Given the description of an element on the screen output the (x, y) to click on. 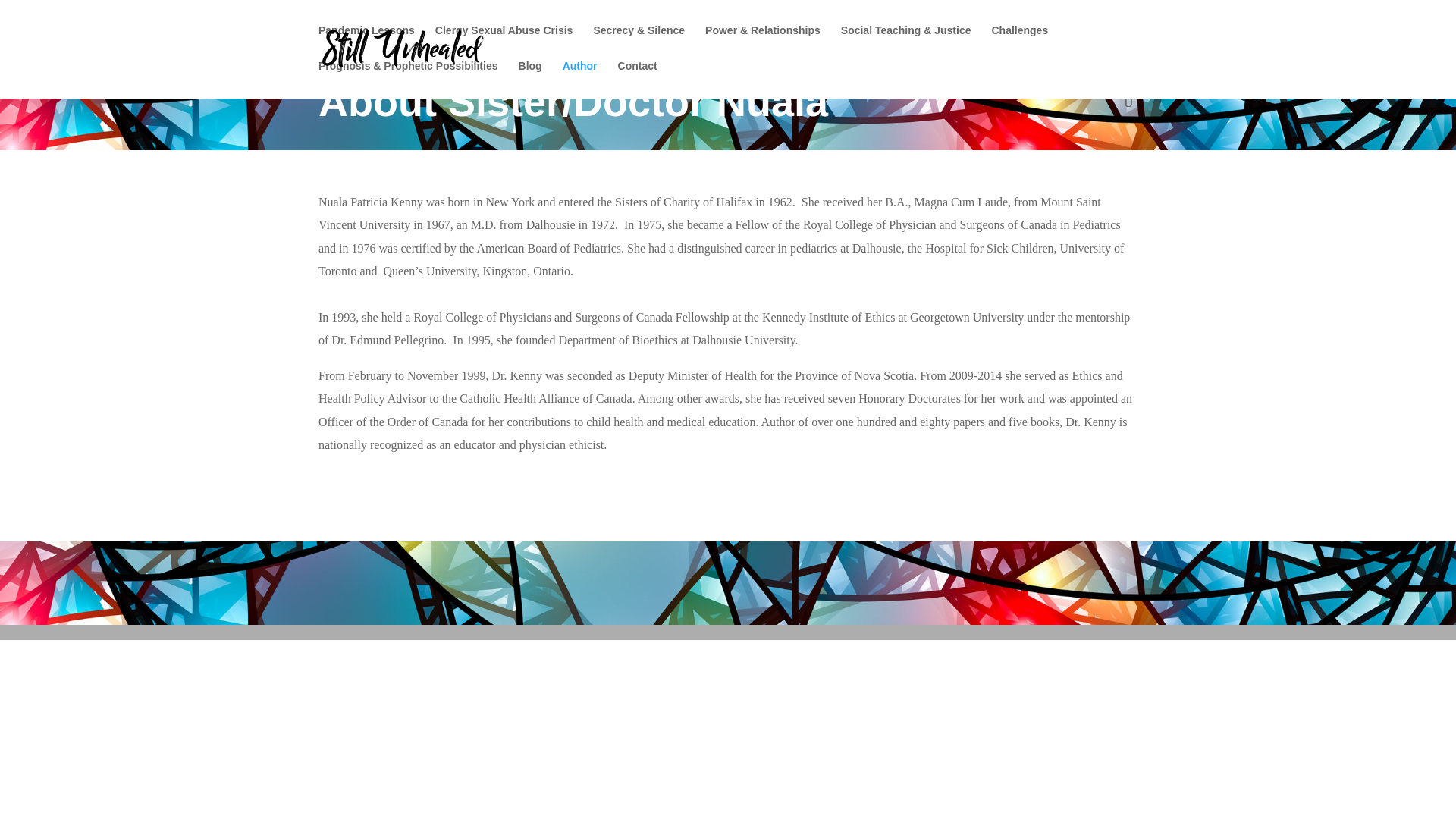
Contact (637, 78)
Author (579, 78)
Clergy Sexual Abuse Crisis (504, 42)
Pandemic Lessons (366, 42)
Challenges (1019, 42)
Blog (529, 78)
